Given the description of an element on the screen output the (x, y) to click on. 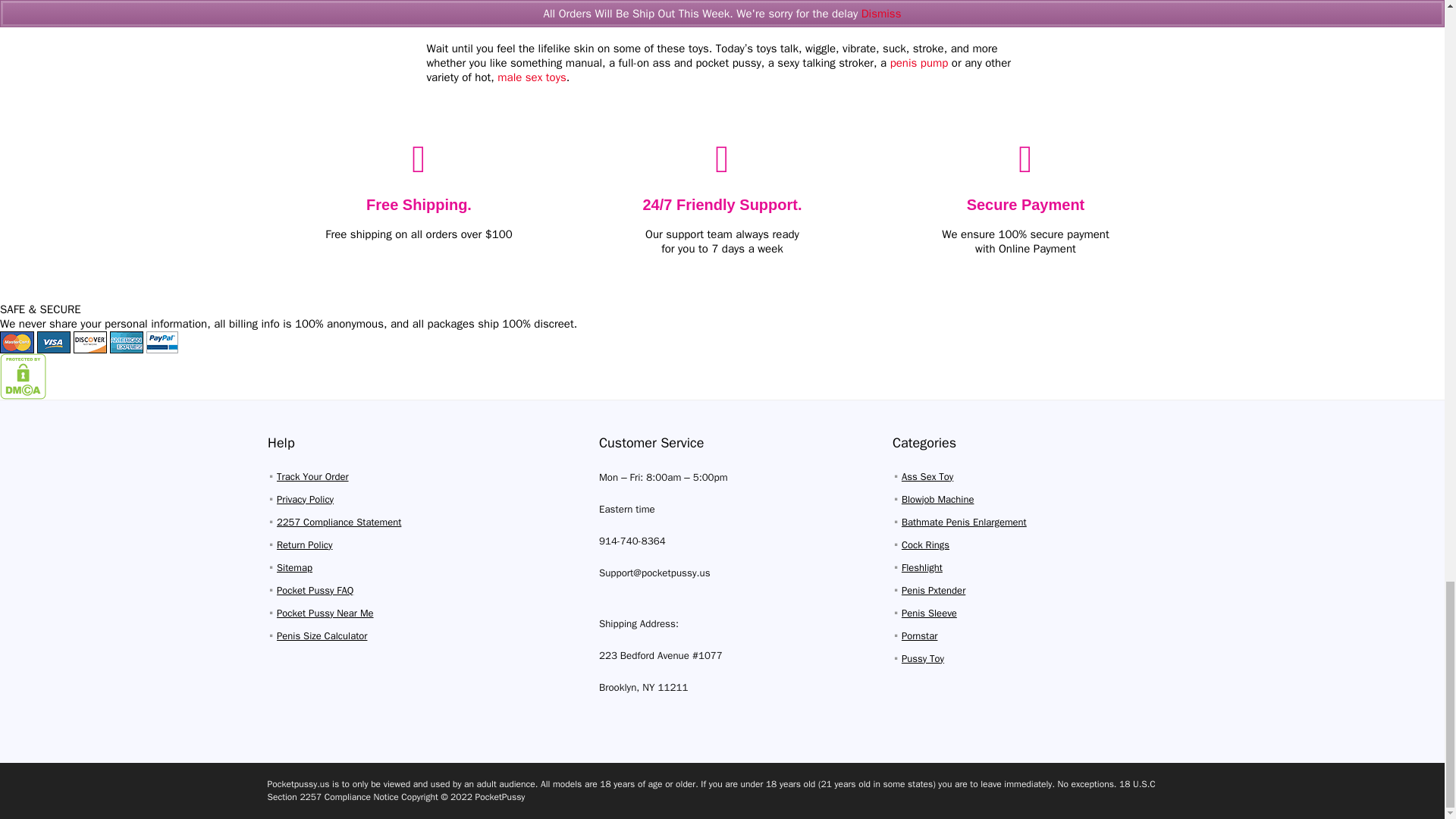
DMCA.com Protection Status (23, 359)
